Given the description of an element on the screen output the (x, y) to click on. 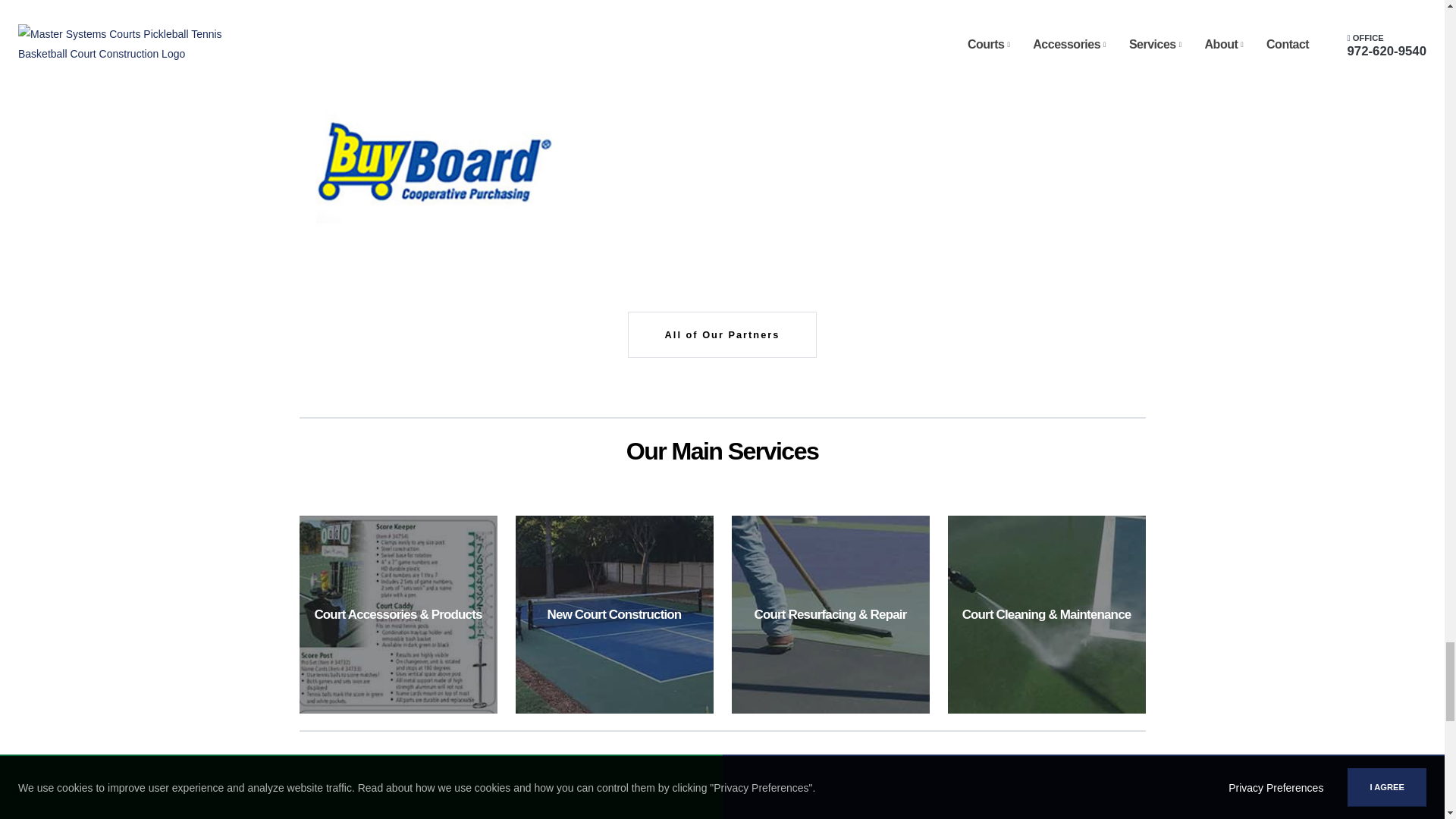
Member of Purchasing CoOp BuyBoard (433, 167)
